Given the description of an element on the screen output the (x, y) to click on. 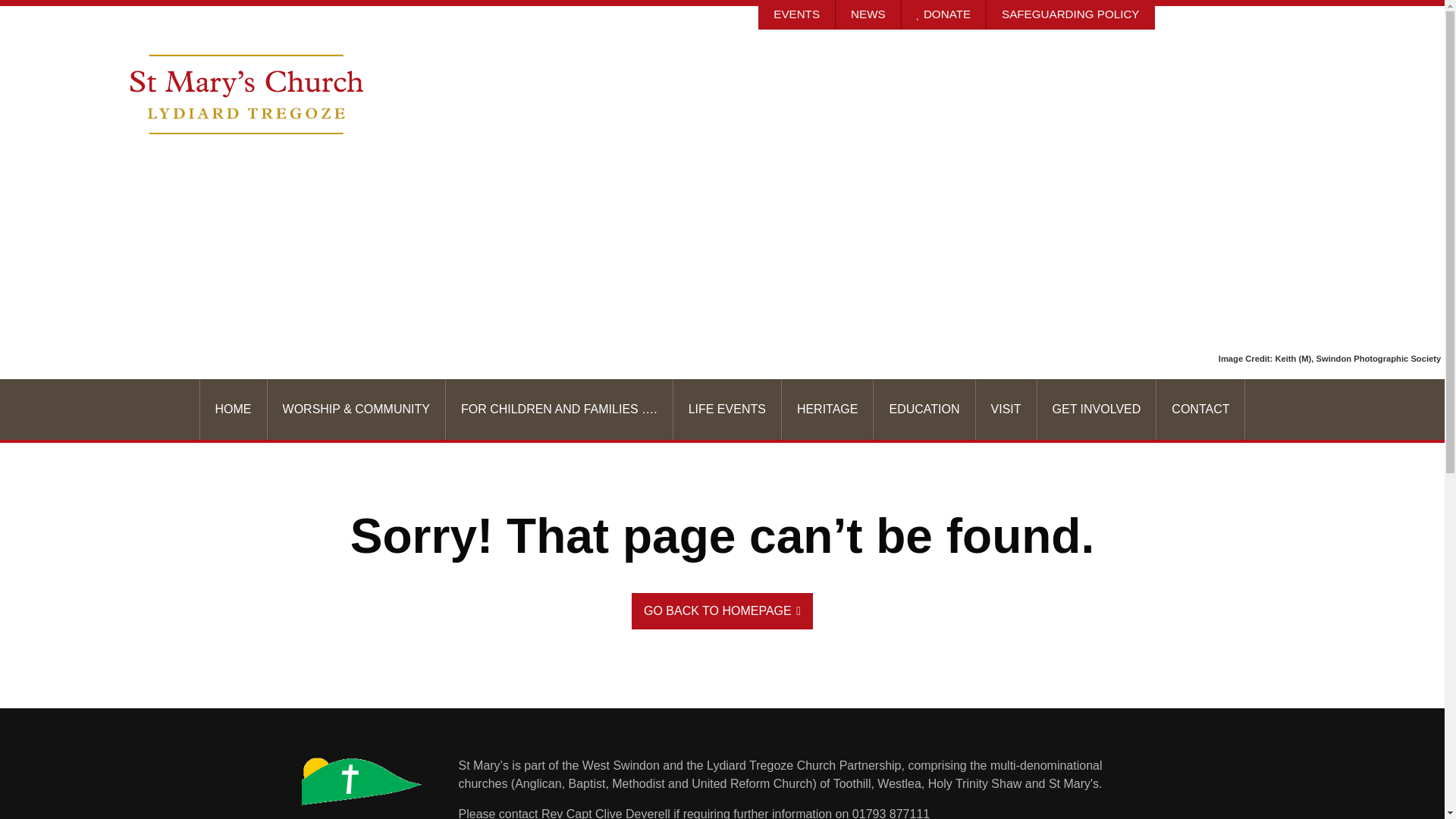
SAFEGUARDING POLICY (1070, 14)
EVENTS (796, 14)
NEWS (868, 14)
HOME (233, 409)
VISIT (1005, 409)
GO BACK TO HOMEPAGE (721, 610)
DONATE (944, 14)
GET INVOLVED (1096, 409)
HERITAGE (827, 409)
EDUCATION (923, 409)
